Given the description of an element on the screen output the (x, y) to click on. 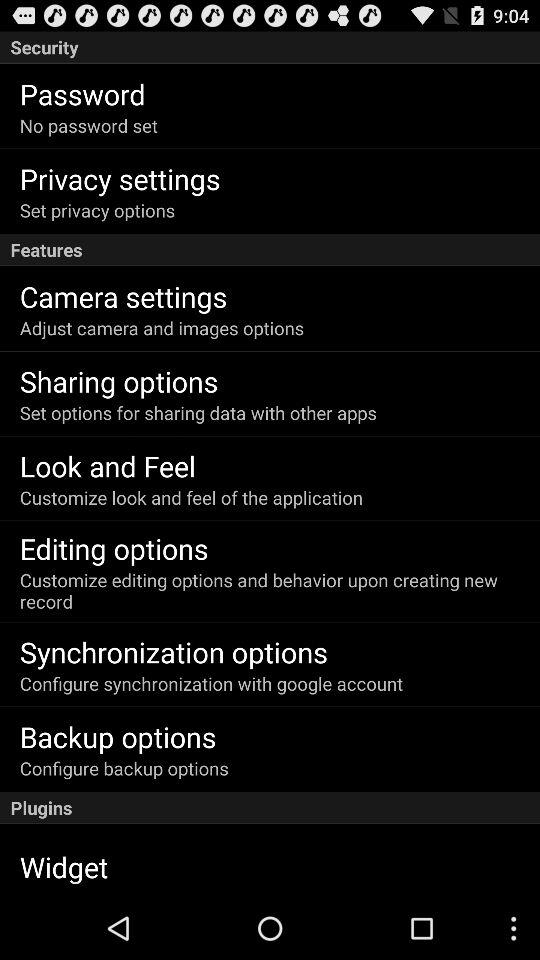
tap item below the features icon (123, 296)
